Given the description of an element on the screen output the (x, y) to click on. 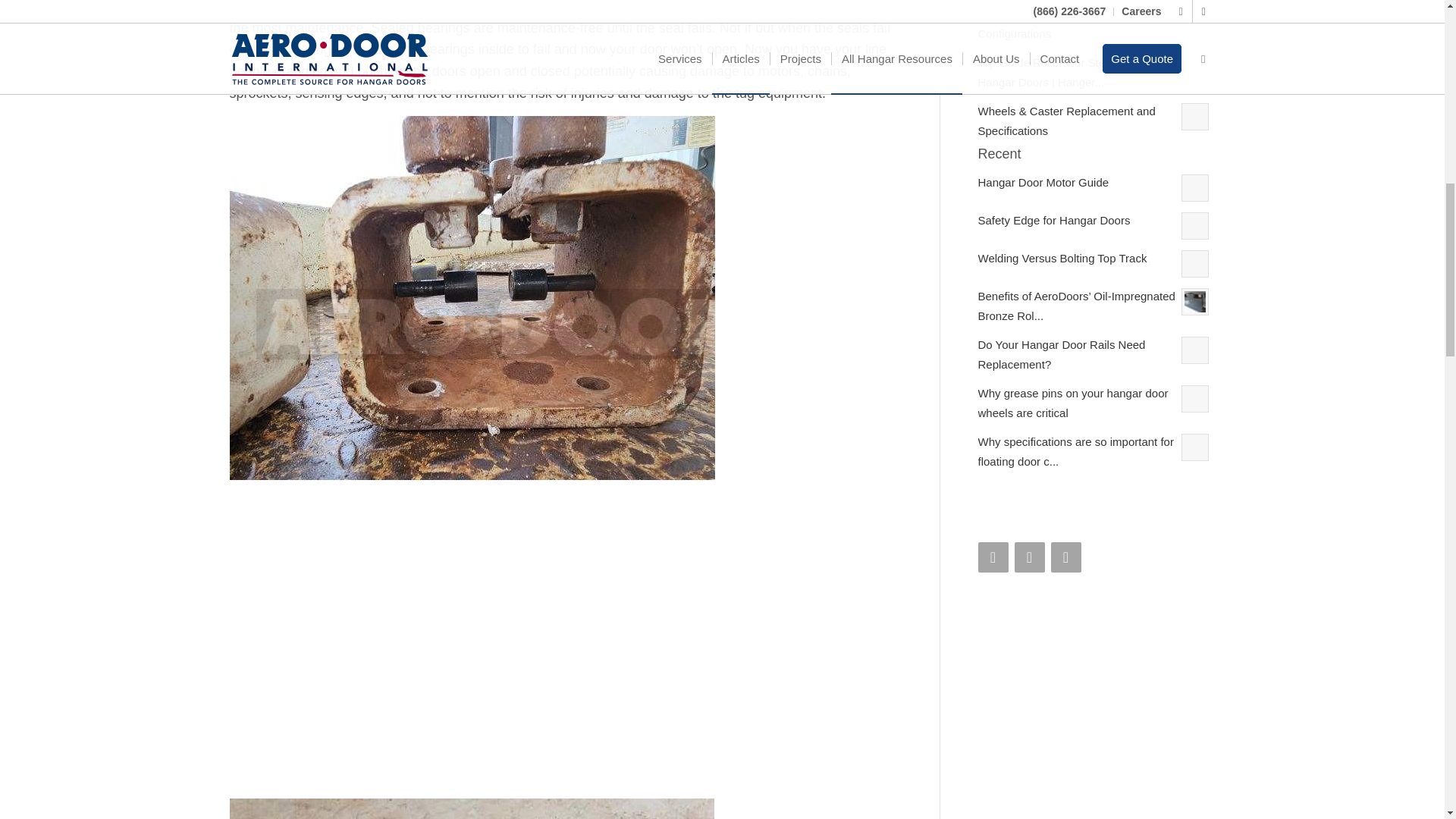
Non oil impregnated rollers (416, 639)
Rollers non oiled (470, 808)
